Given the description of an element on the screen output the (x, y) to click on. 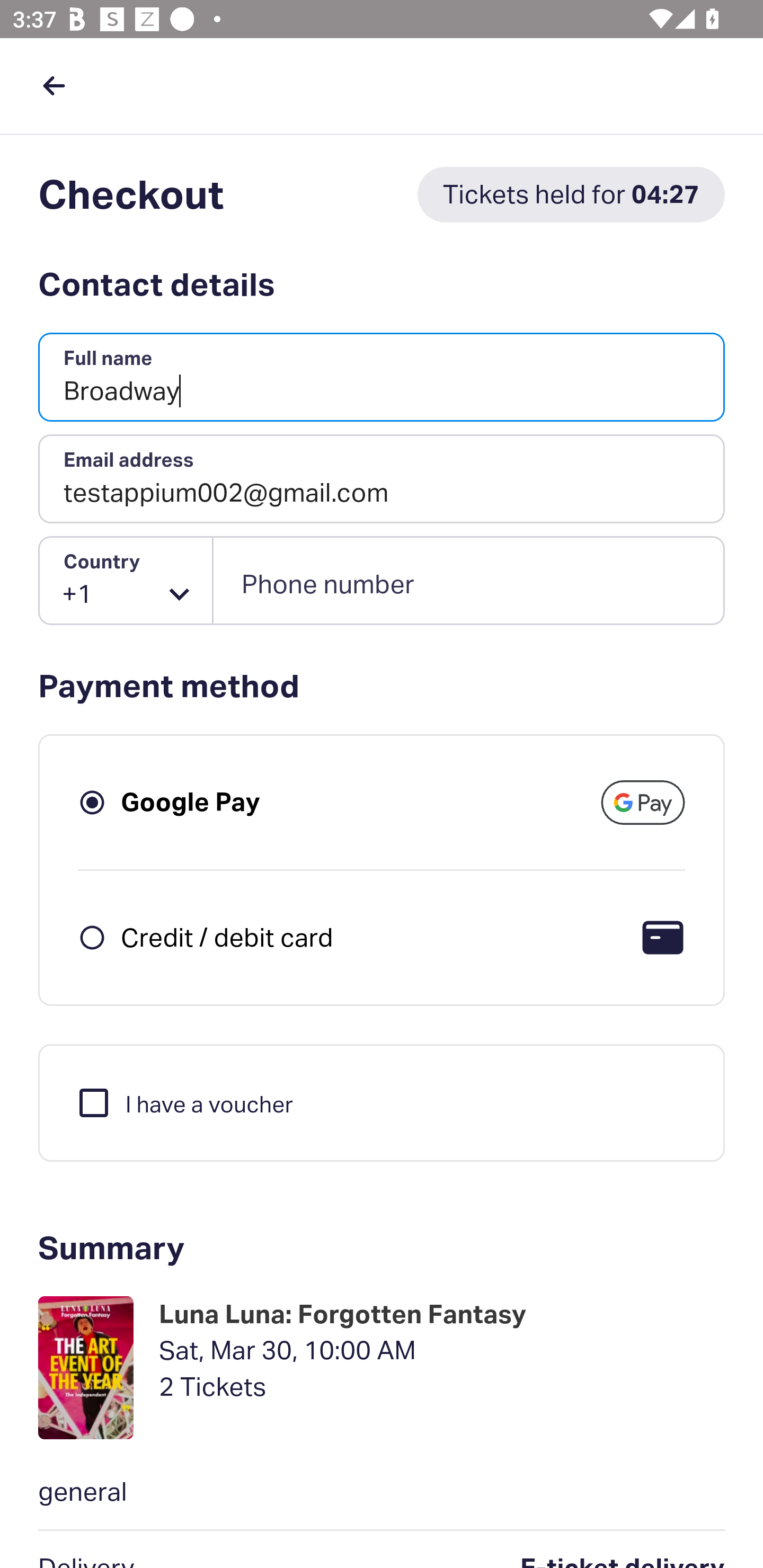
back button (53, 85)
Broadway (381, 377)
testappium002@gmail.com (381, 478)
  +1 (126, 580)
Google Pay (190, 802)
Credit / debit card (227, 936)
I have a voucher (183, 1101)
